Given the description of an element on the screen output the (x, y) to click on. 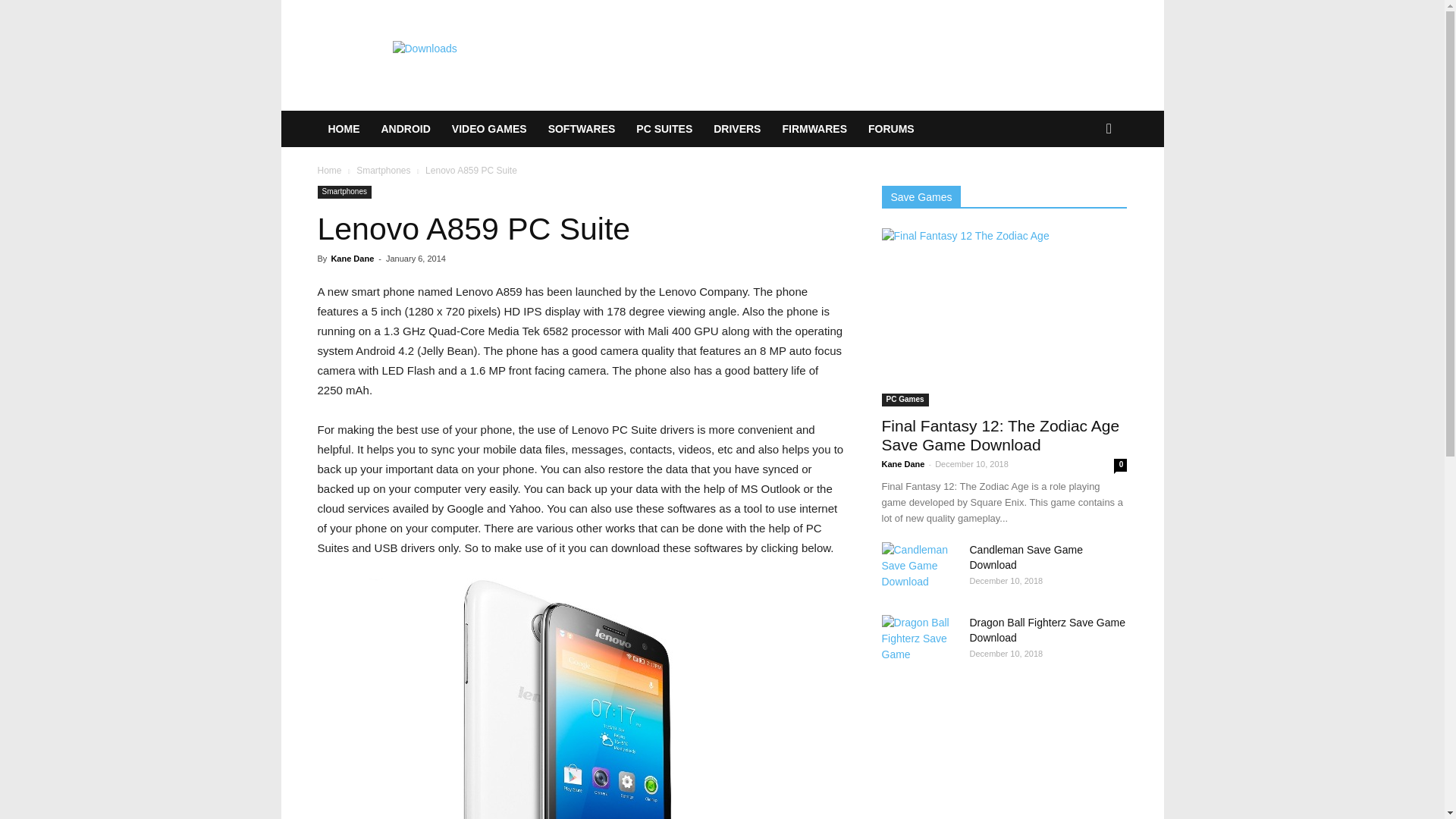
FIRMWARES (814, 128)
Android (405, 128)
DRIVERS (737, 128)
FORUMS (890, 128)
ANDROID (405, 128)
SOFTWARES (581, 128)
VIDEO GAMES (489, 128)
PC Softwares (581, 128)
Search (1085, 189)
HOME (343, 128)
